Given the description of an element on the screen output the (x, y) to click on. 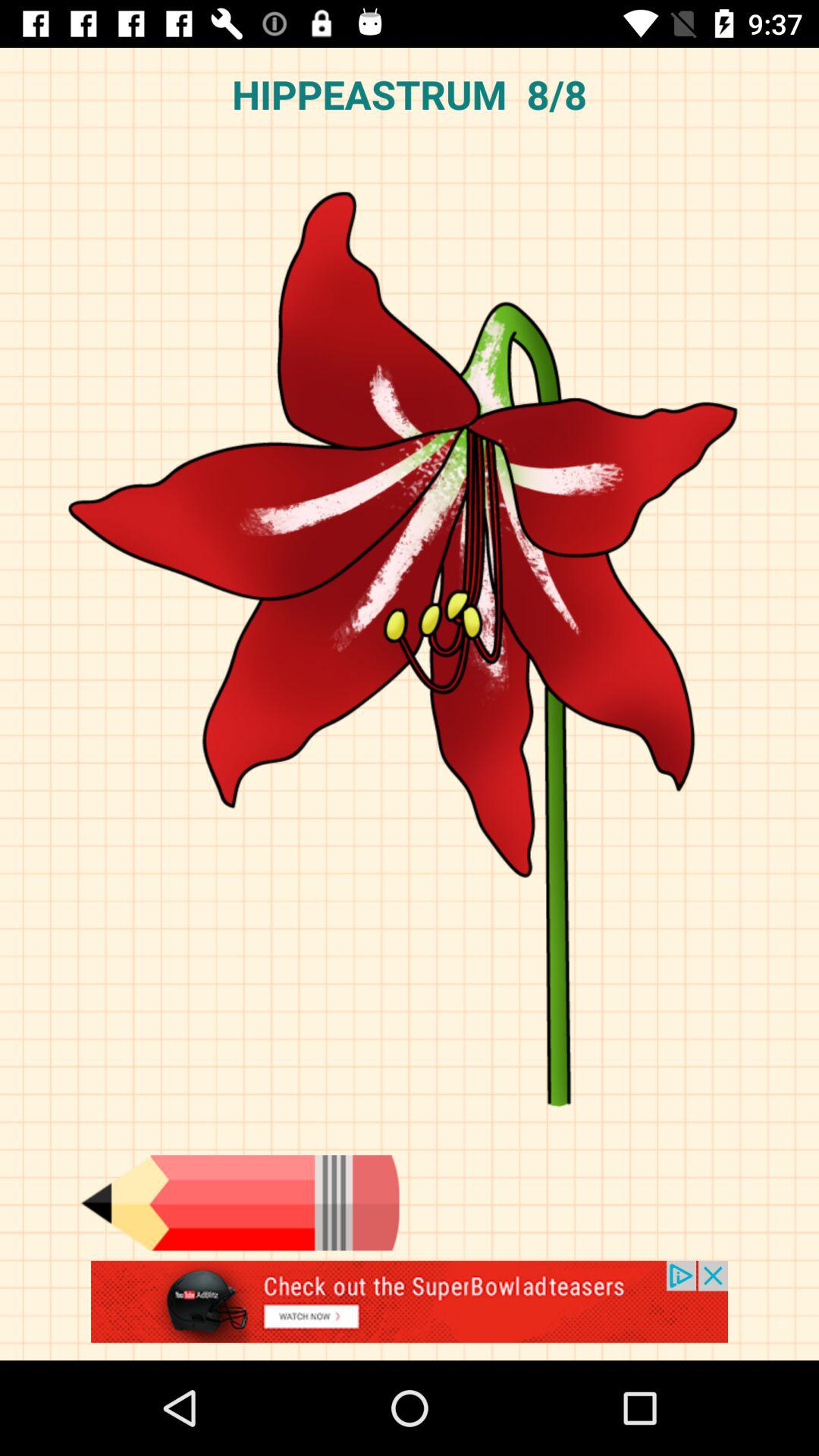
select to write (239, 1202)
